Given the description of an element on the screen output the (x, y) to click on. 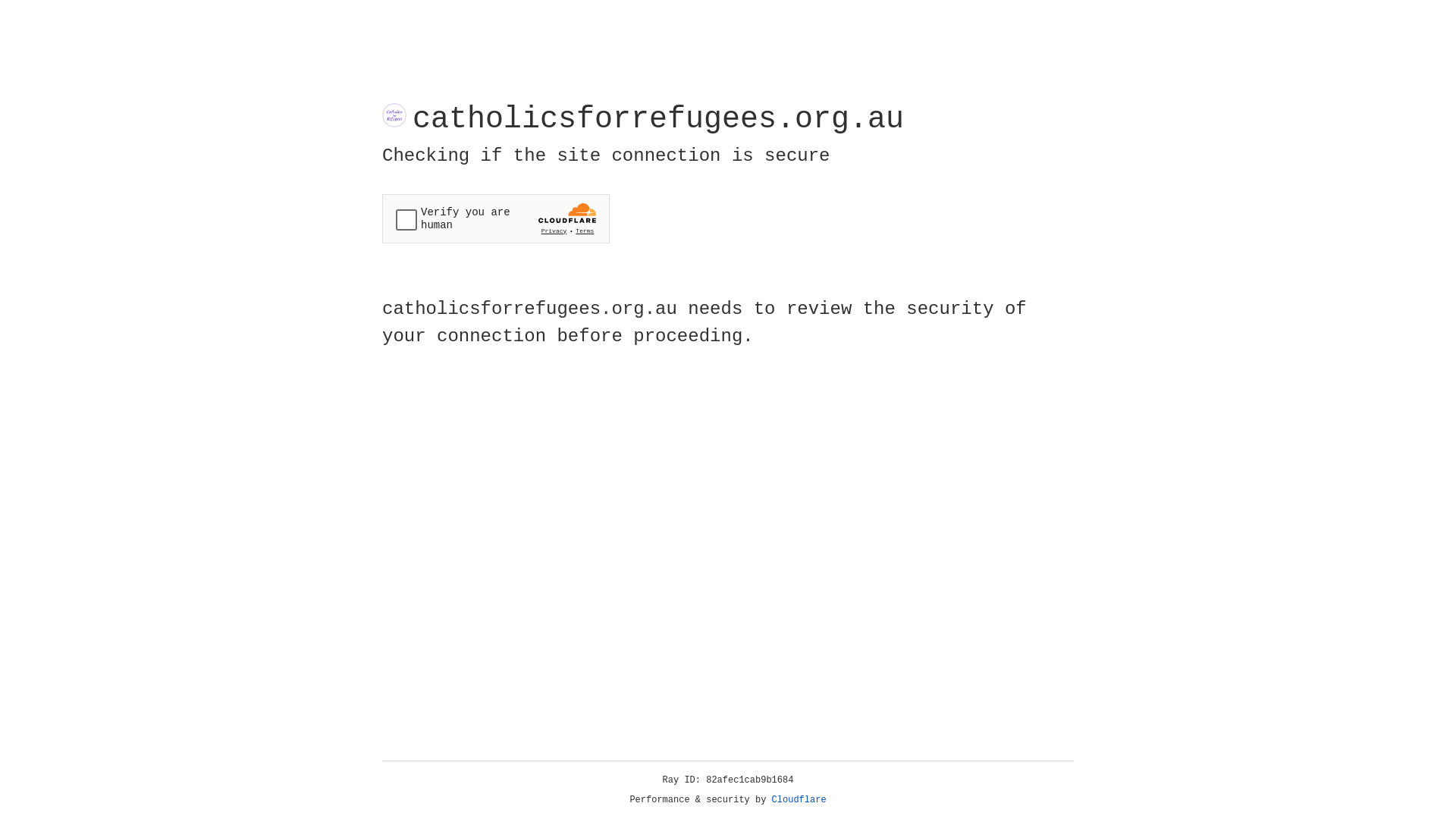
Cloudflare Element type: text (798, 799)
Widget containing a Cloudflare security challenge Element type: hover (495, 218)
